Given the description of an element on the screen output the (x, y) to click on. 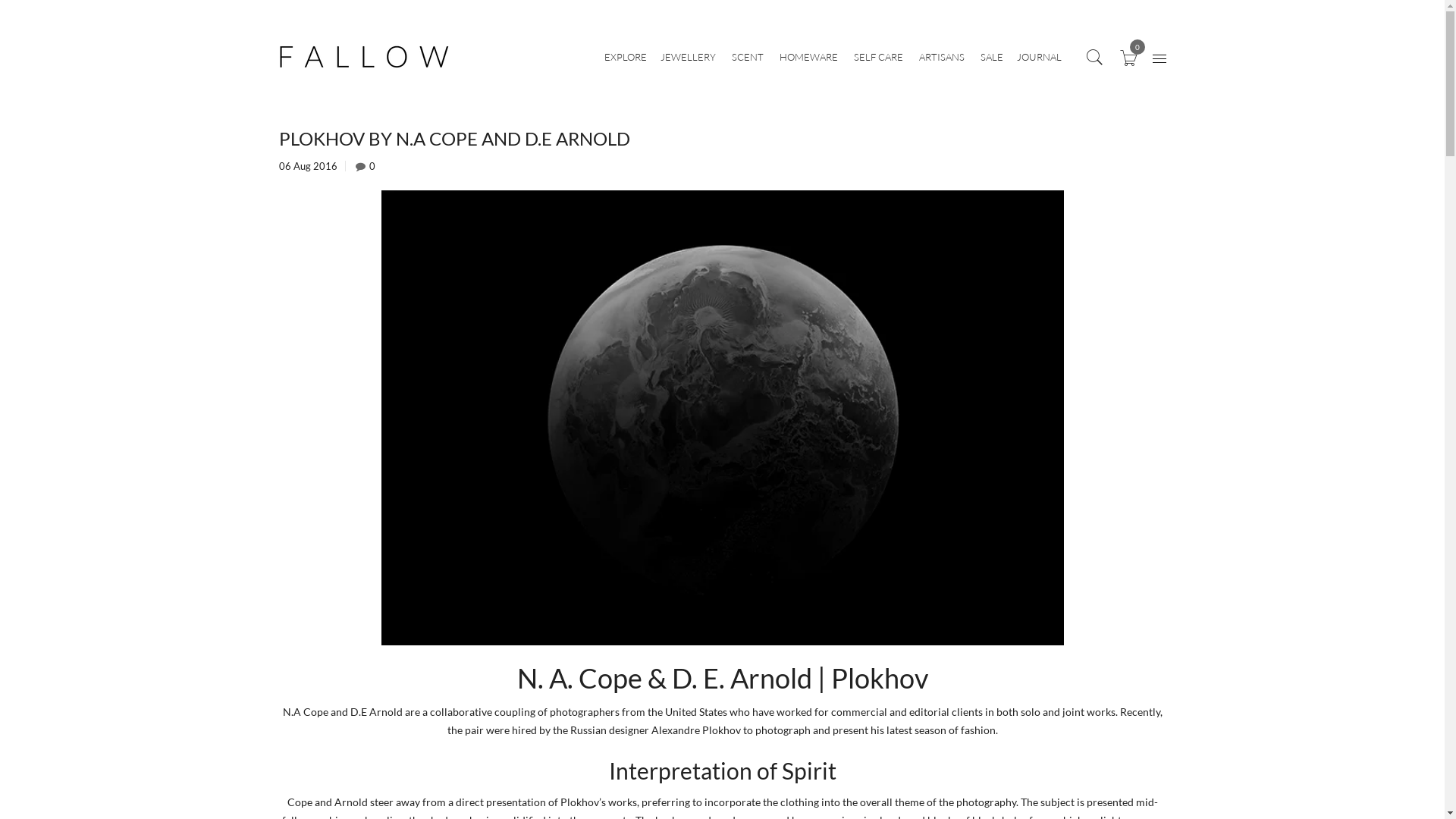
PLOKHOV BY N.A COPE AND D.E ARNOLD Element type: text (454, 138)
JOURNAL Element type: text (1038, 55)
SALE Element type: text (990, 55)
EXPLORE Element type: text (624, 55)
ARTISANS Element type: text (941, 55)
0 Element type: text (1128, 55)
SELF CARE Element type: text (878, 55)
JEWELLERY Element type: text (687, 55)
HOMEWARE Element type: text (808, 55)
SCENT Element type: text (746, 55)
